Given the description of an element on the screen output the (x, y) to click on. 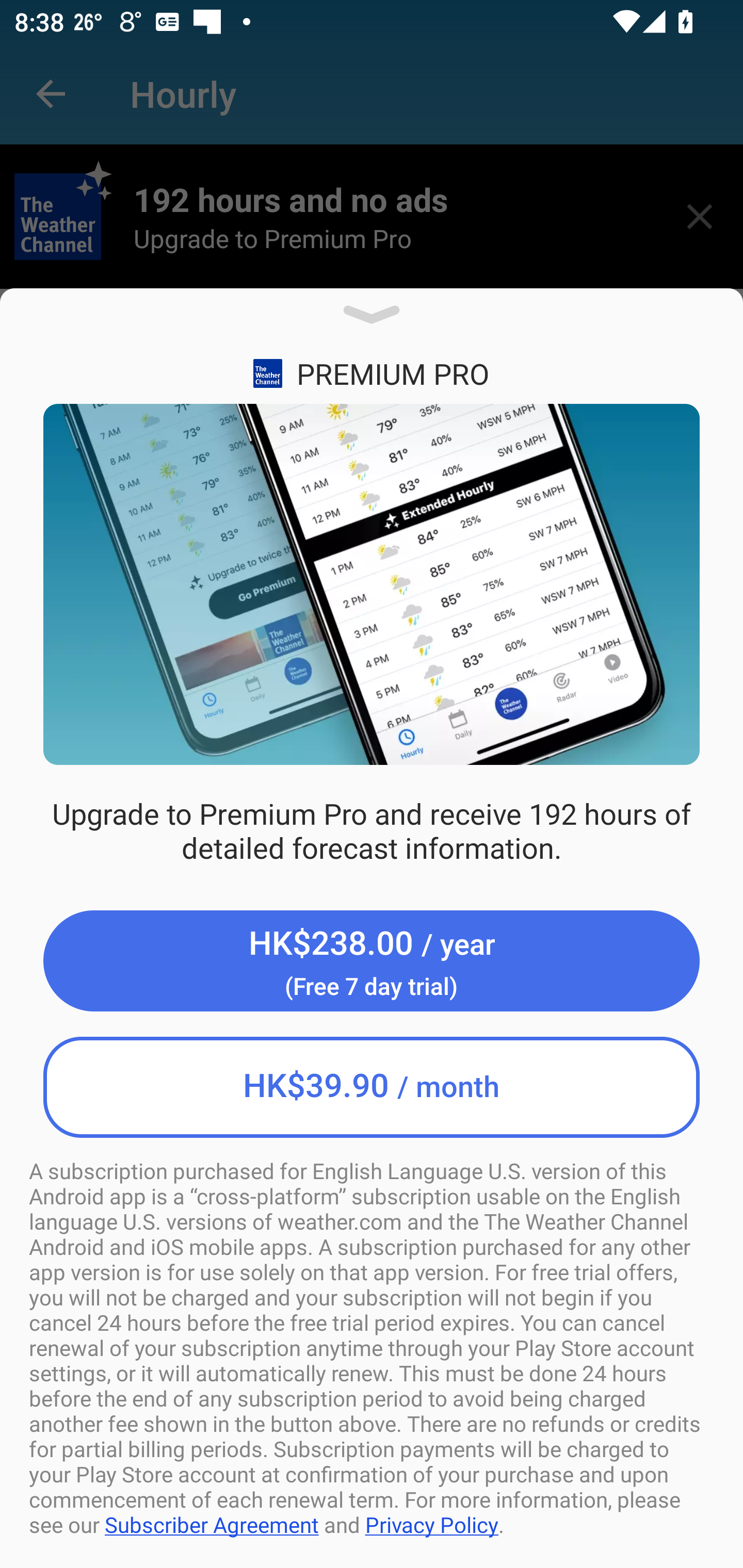
minimize (371, 321)
Logo icon PREMIUM PRO (371, 373)
HK$238.00 / year (Free 7 day trial) (371, 961)
HK$39.90 / month (371, 1087)
